Given the description of an element on the screen output the (x, y) to click on. 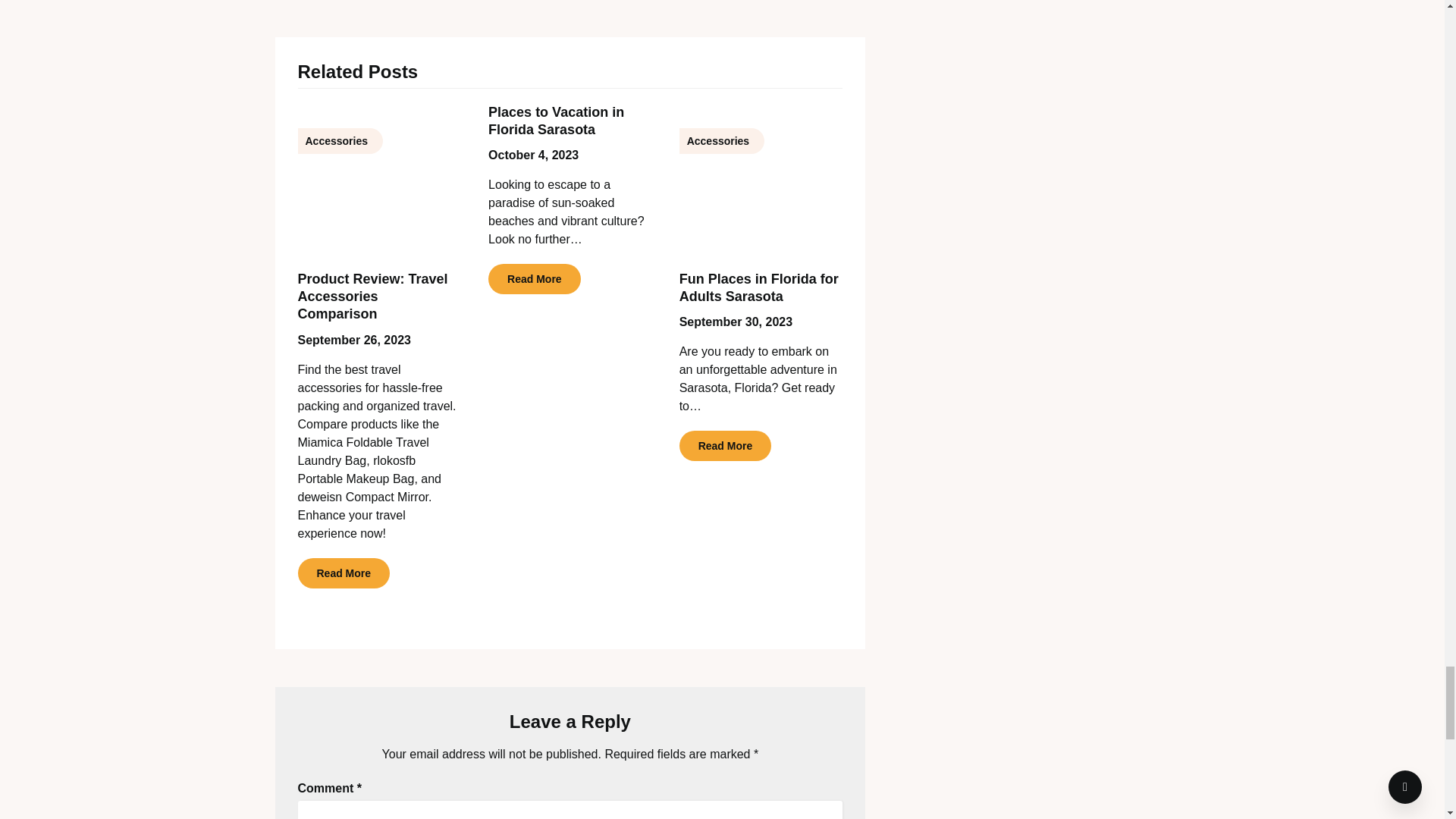
Read More (533, 278)
September 26, 2023 (353, 339)
Accessories (379, 179)
Product Review: Travel Accessories Comparison (371, 296)
Read More (343, 572)
Places to Vacation in Florida Sarasota (555, 120)
October 4, 2023 (532, 154)
Accessories (761, 179)
